Given the description of an element on the screen output the (x, y) to click on. 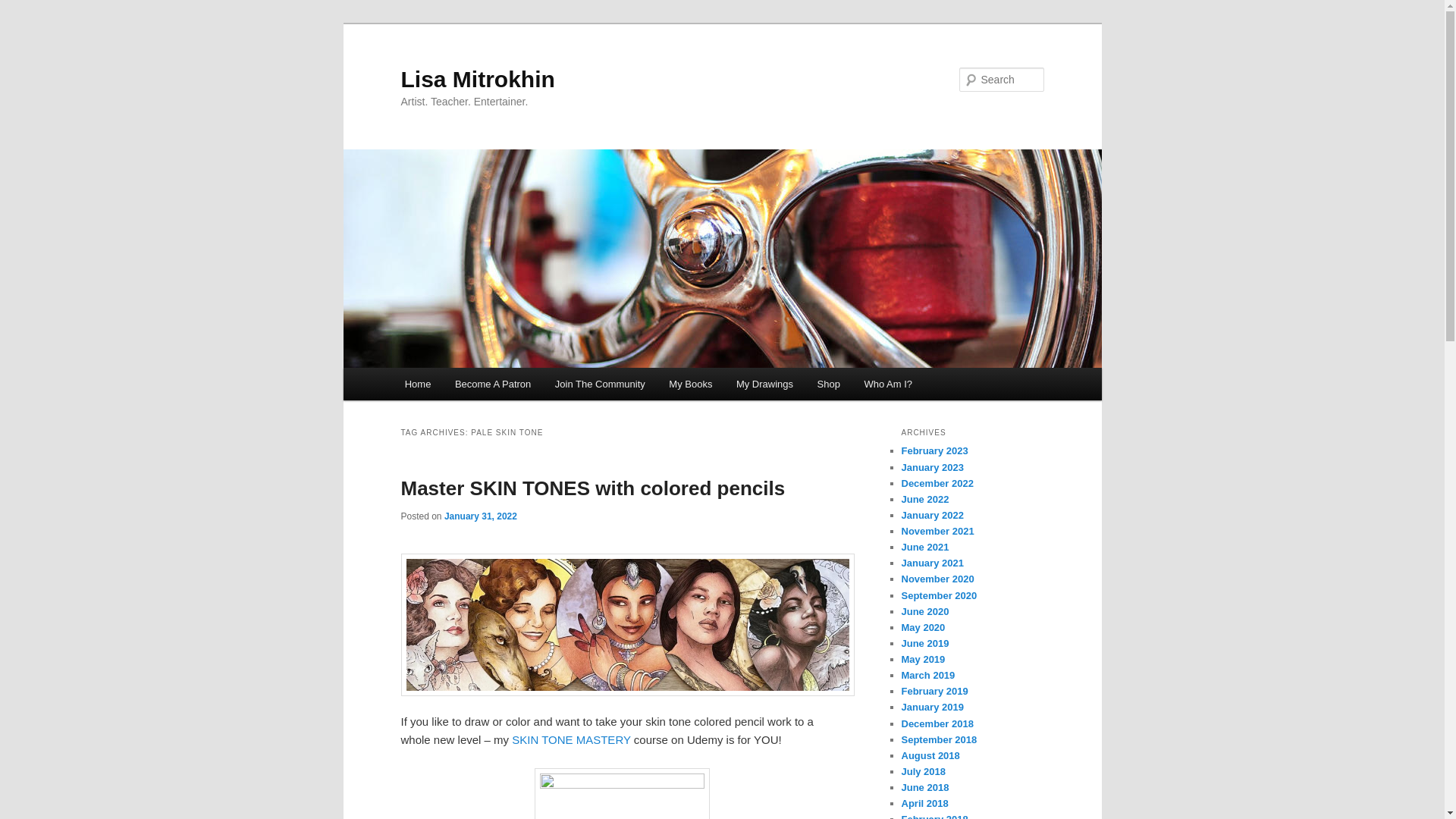
January 31, 2022 (480, 516)
SKIN TONE MASTERY (571, 739)
Lisa Mitrokhin (477, 78)
Who Am I? (887, 383)
Join The Community (599, 383)
June 2022 (925, 499)
2:16 am (480, 516)
Master SKIN TONES with colored pencils (592, 487)
December 2022 (936, 482)
My Drawings (764, 383)
January 2023 (931, 467)
My Books (691, 383)
Become A Patron (492, 383)
Shop (828, 383)
